Given the description of an element on the screen output the (x, y) to click on. 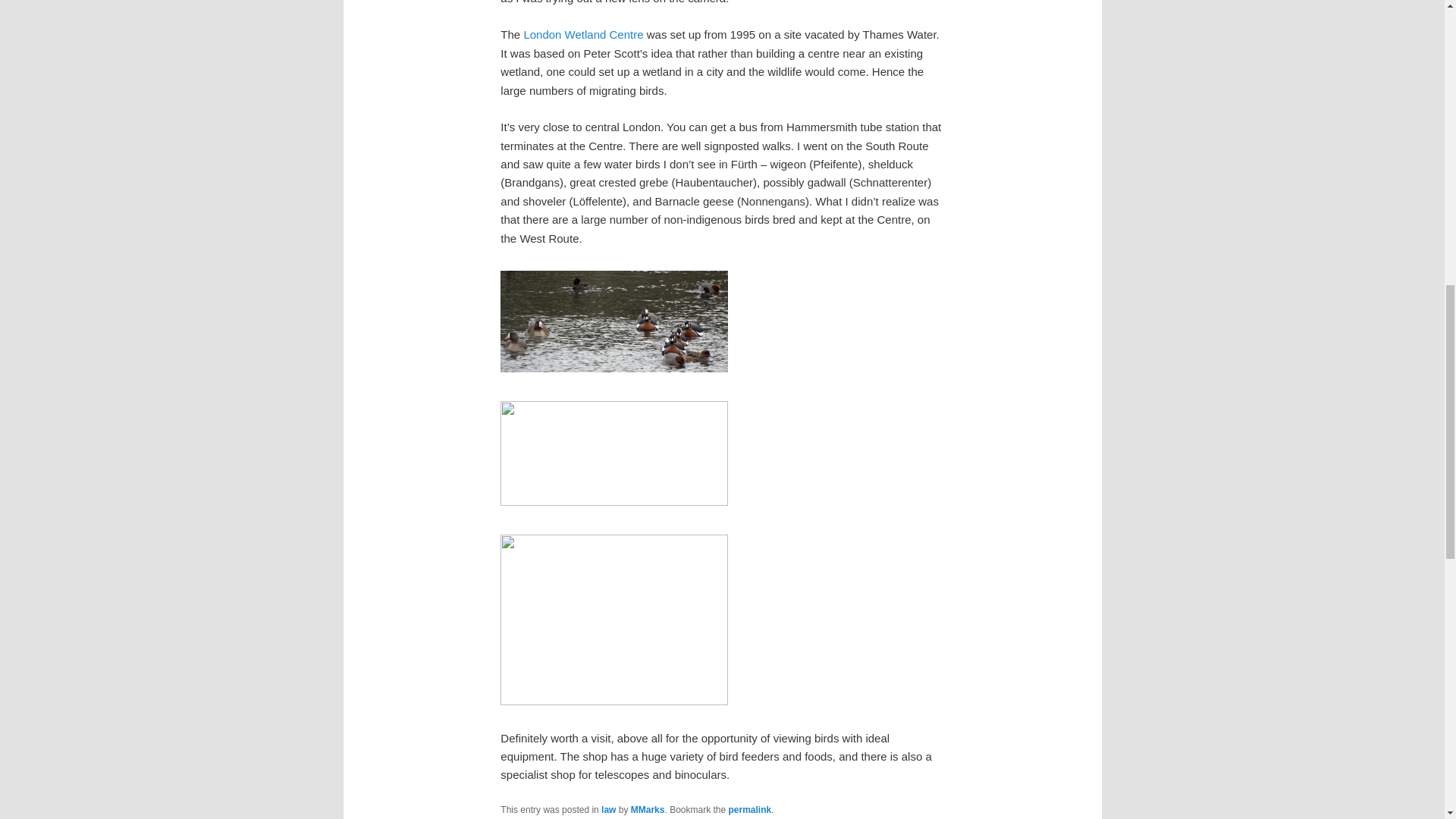
permalink (750, 809)
law (608, 809)
London Wetland Centre (582, 33)
MMarks (647, 809)
